Given the description of an element on the screen output the (x, y) to click on. 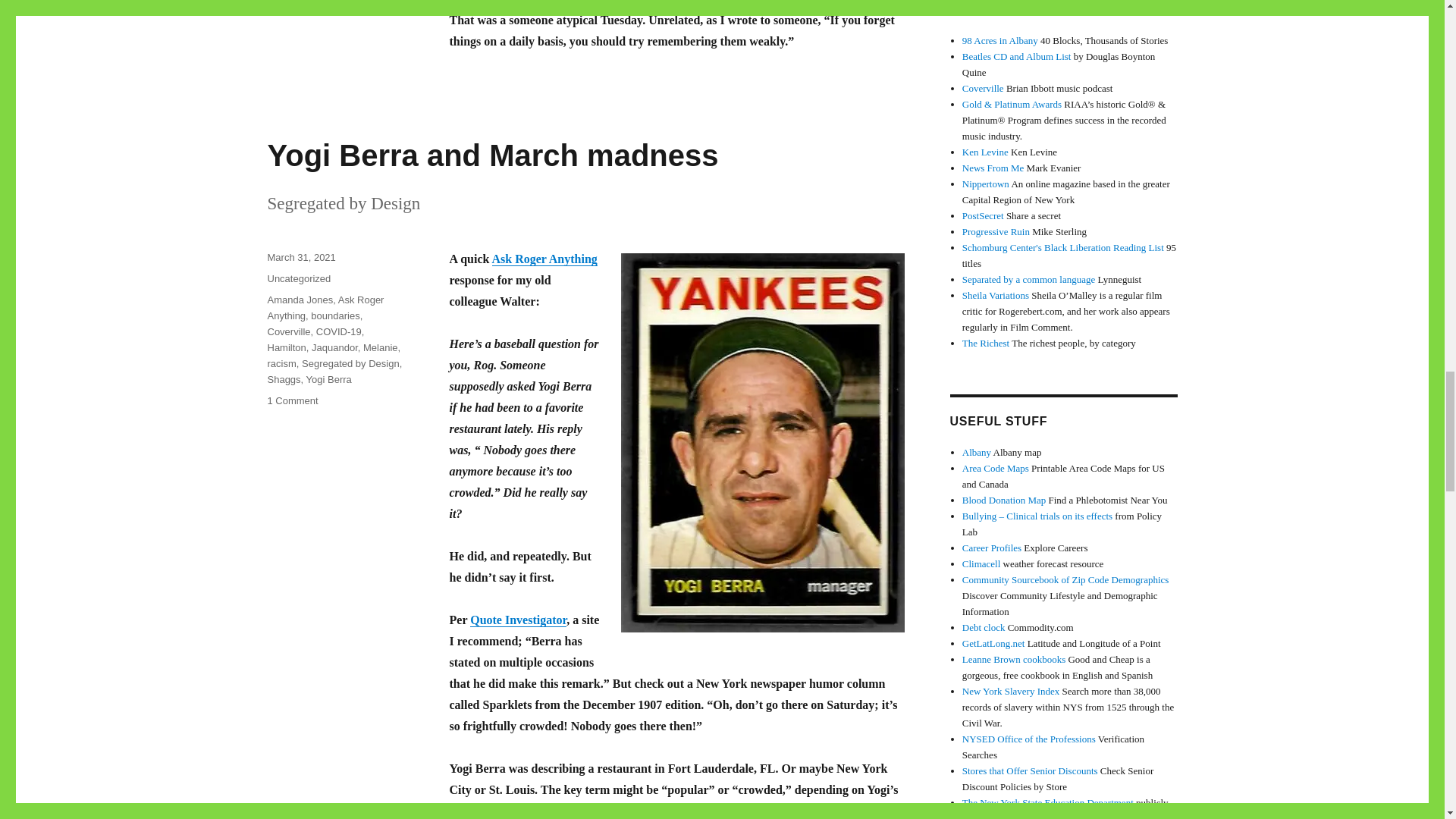
Yogi Berra and March madness (491, 154)
Quote Investigator (518, 619)
Ask Roger Anything (544, 258)
